Given the description of an element on the screen output the (x, y) to click on. 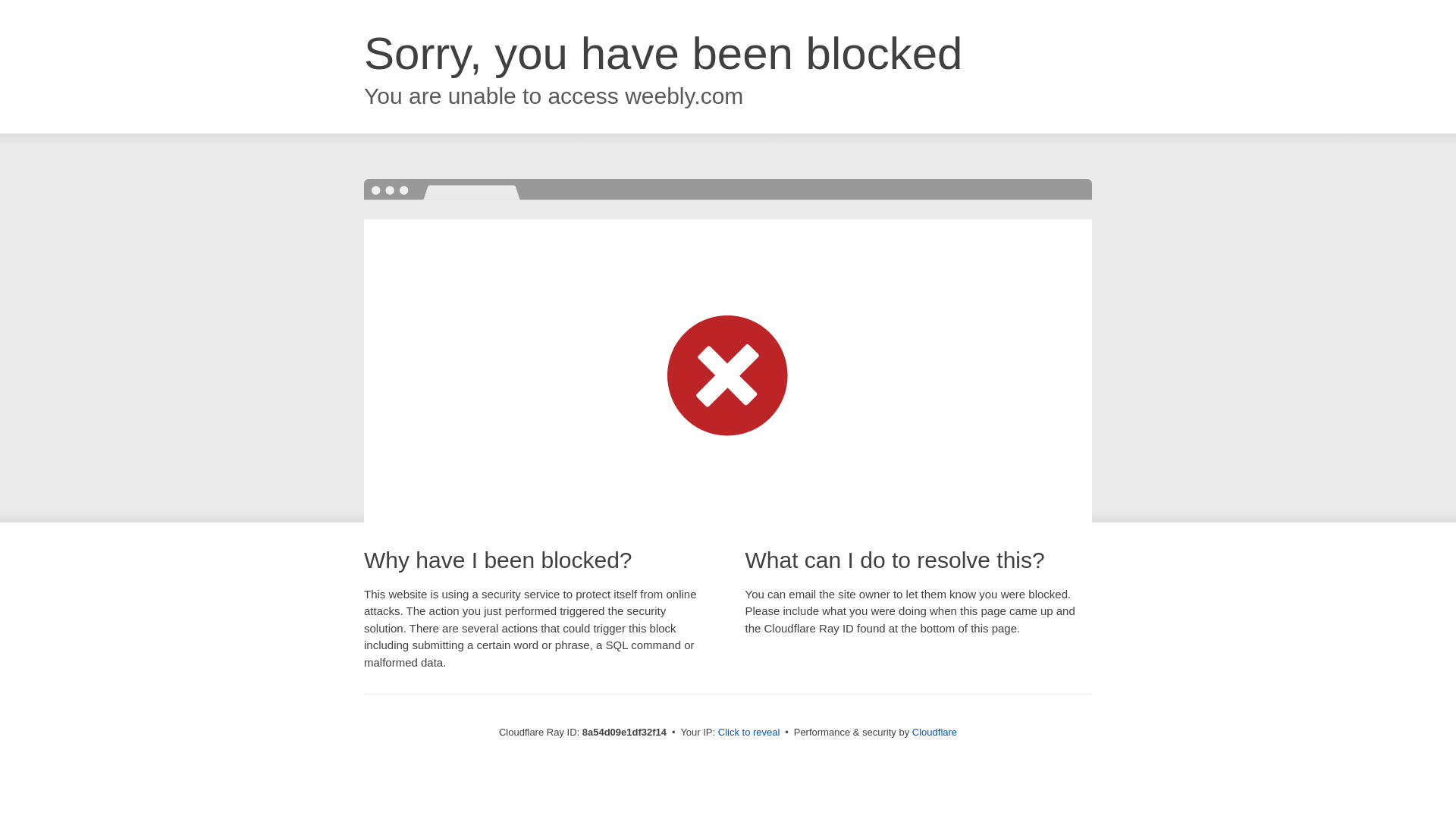
Cloudflare (934, 731)
Click to reveal (748, 732)
